Given the description of an element on the screen output the (x, y) to click on. 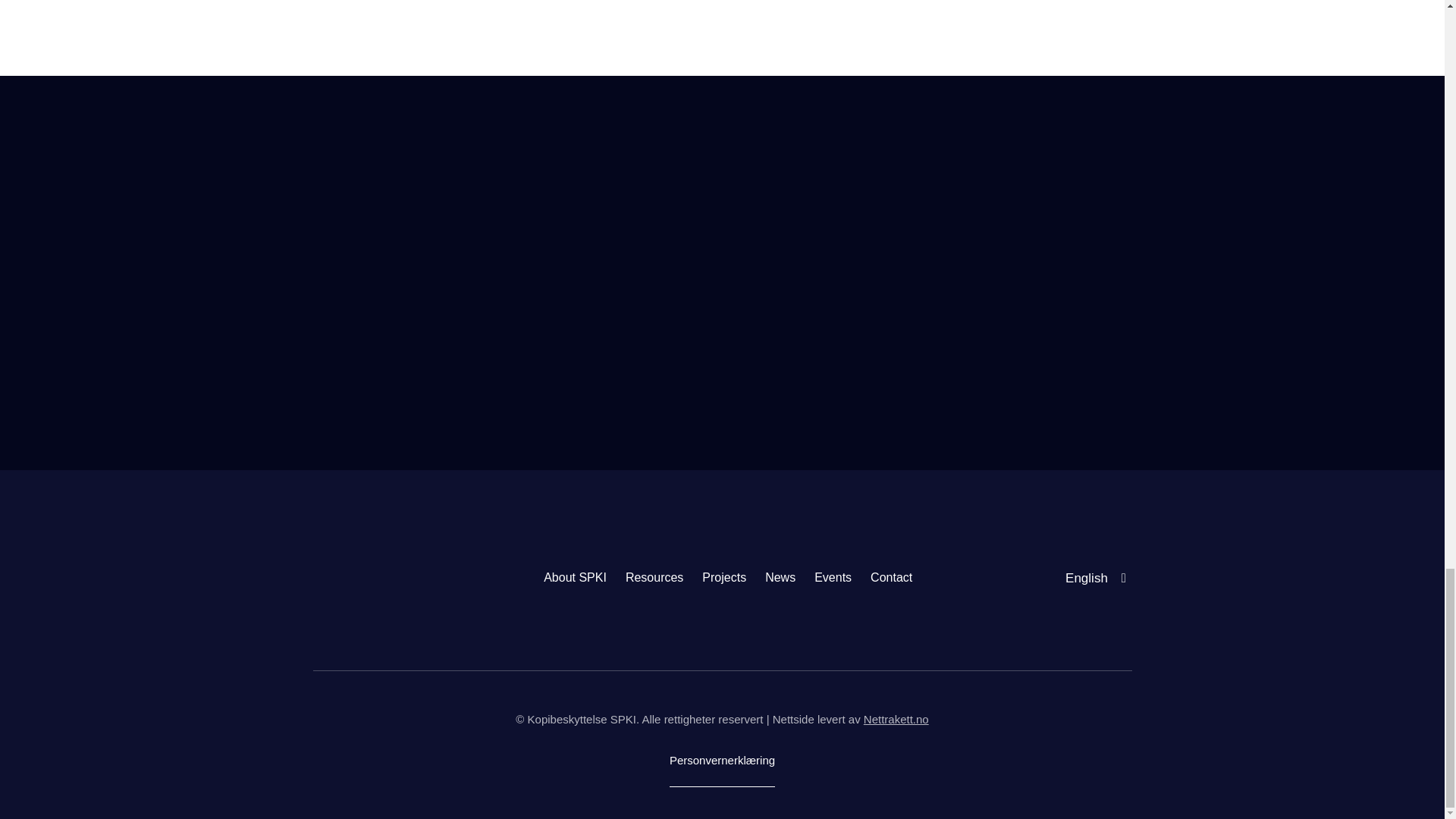
About SPKI (575, 577)
